Given the description of an element on the screen output the (x, y) to click on. 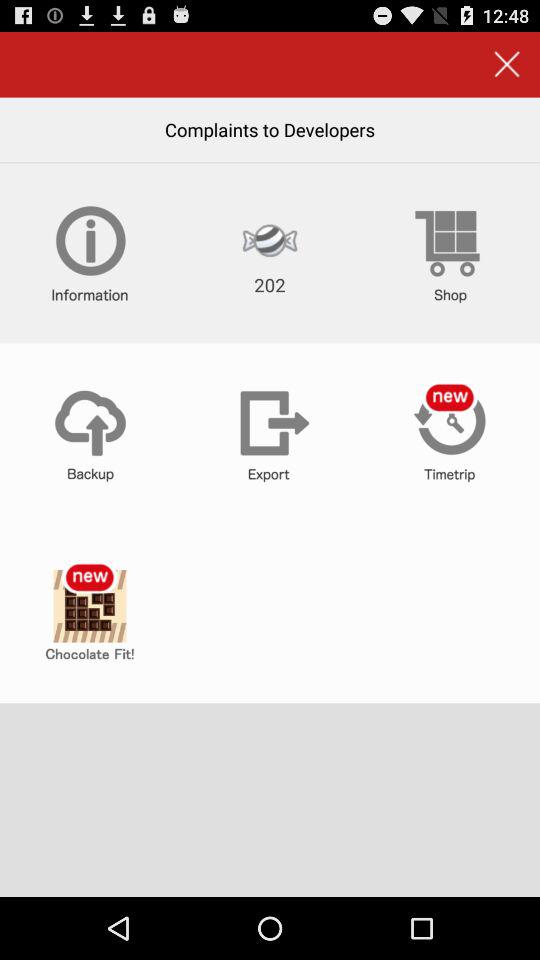
exit app (506, 64)
